Given the description of an element on the screen output the (x, y) to click on. 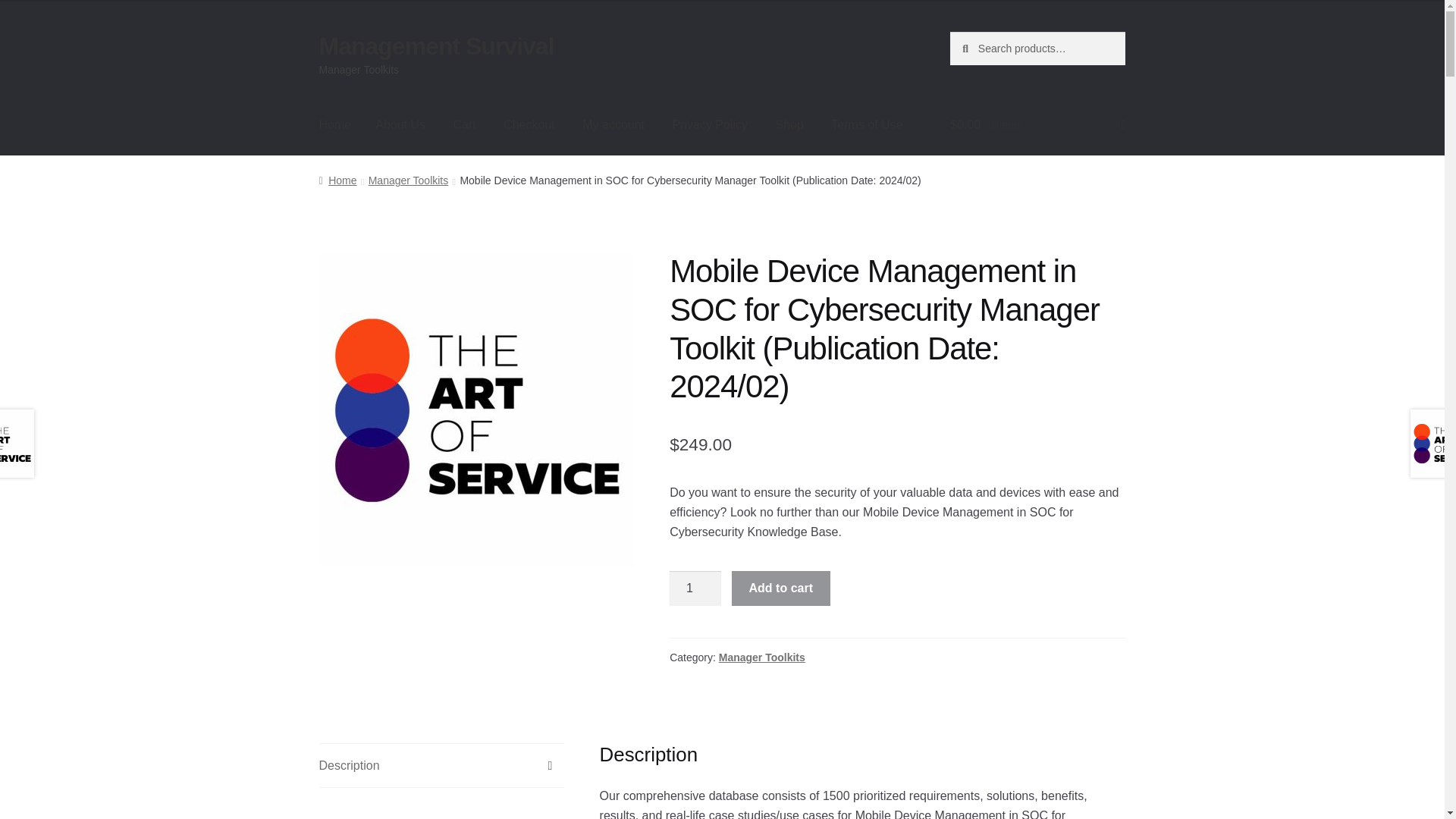
Manager Toolkits (408, 180)
Terms of Use (866, 124)
1 (694, 588)
Privacy Policy (709, 124)
View your shopping cart (1037, 124)
Home (337, 180)
Add to cart (780, 588)
About Us (400, 124)
